Given the description of an element on the screen output the (x, y) to click on. 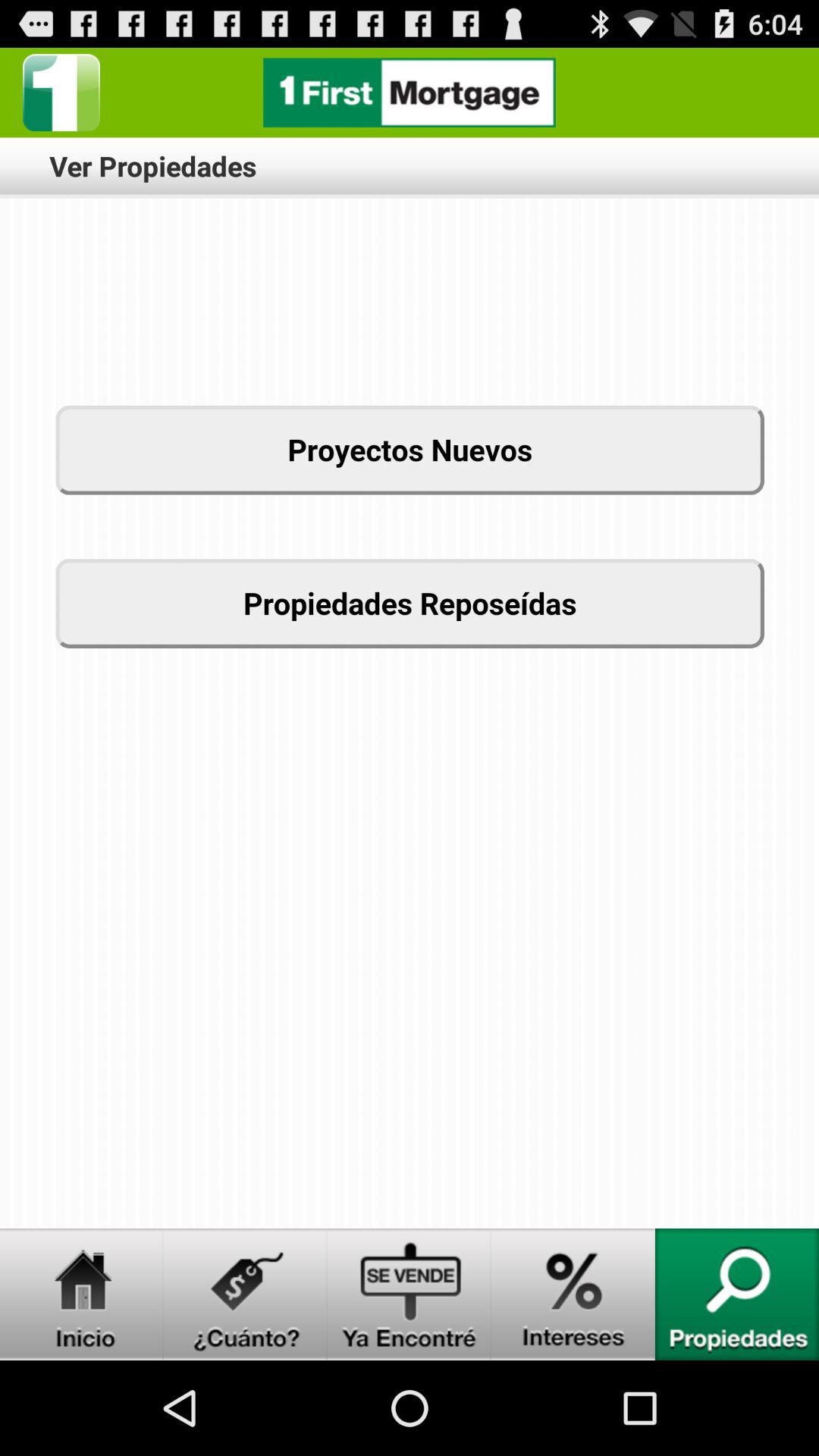
checks interest percentages (573, 1294)
